Given the description of an element on the screen output the (x, y) to click on. 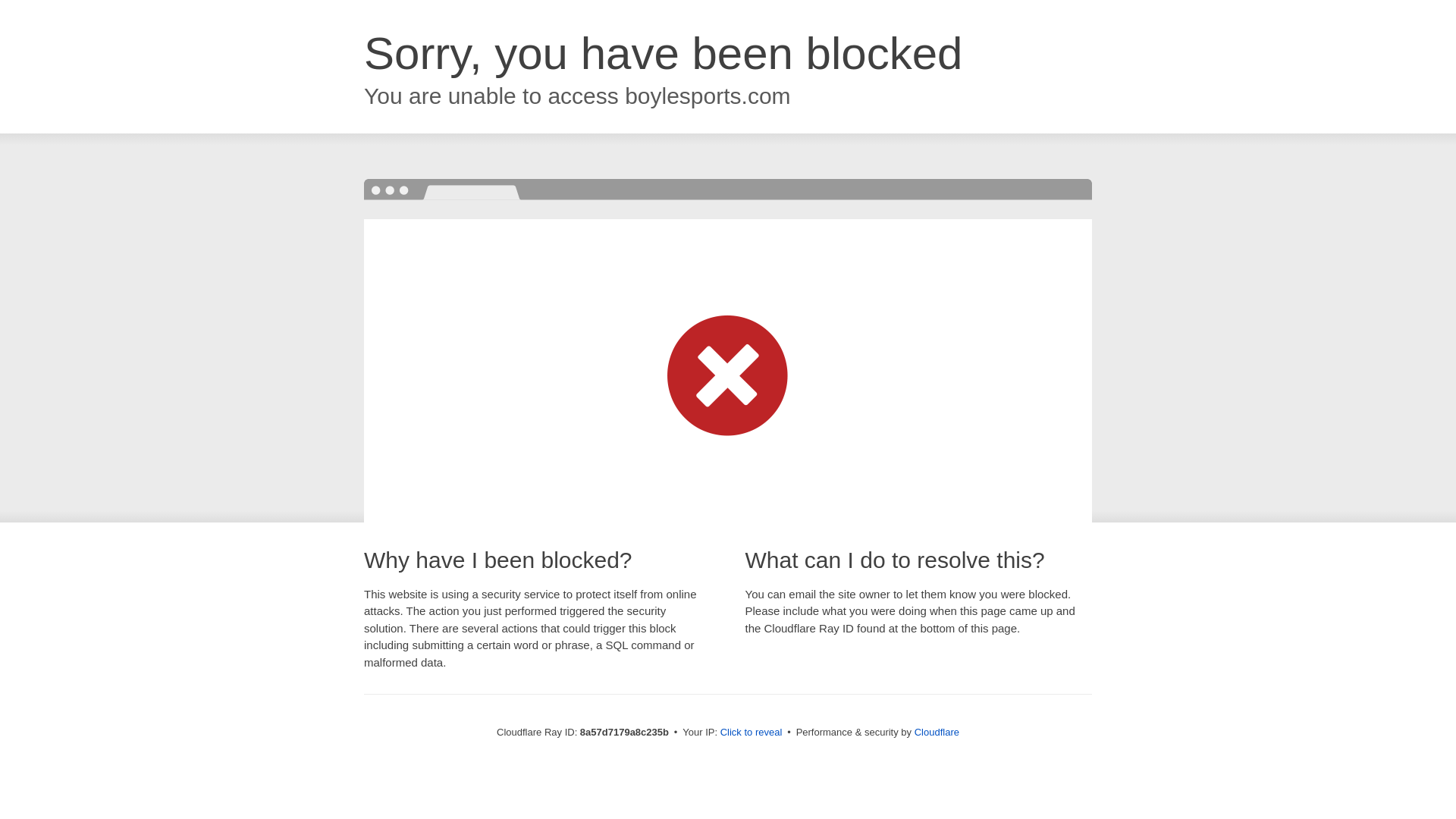
Click to reveal (751, 732)
Cloudflare (936, 731)
